Given the description of an element on the screen output the (x, y) to click on. 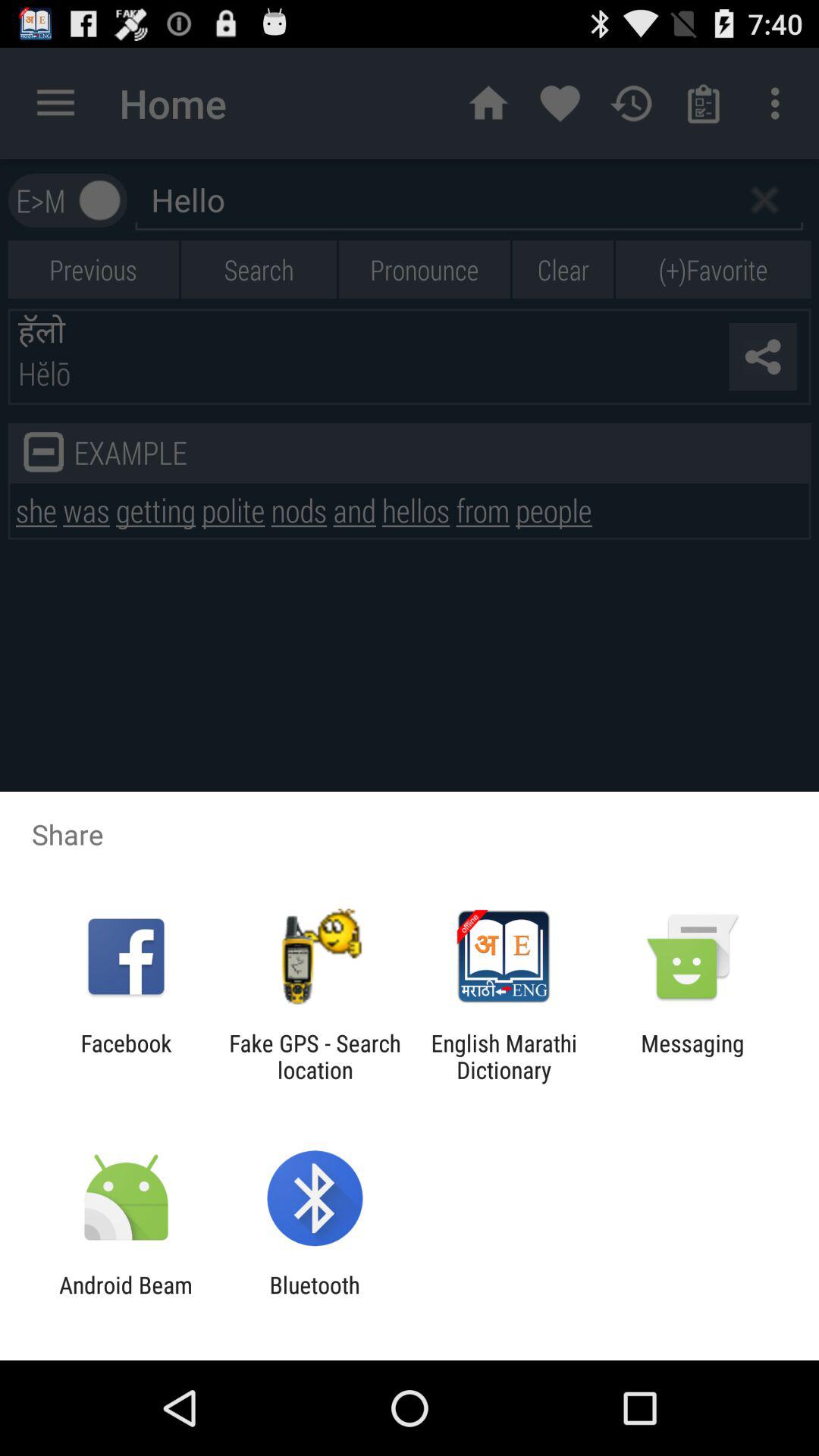
press icon next to the english marathi dictionary (692, 1056)
